Given the description of an element on the screen output the (x, y) to click on. 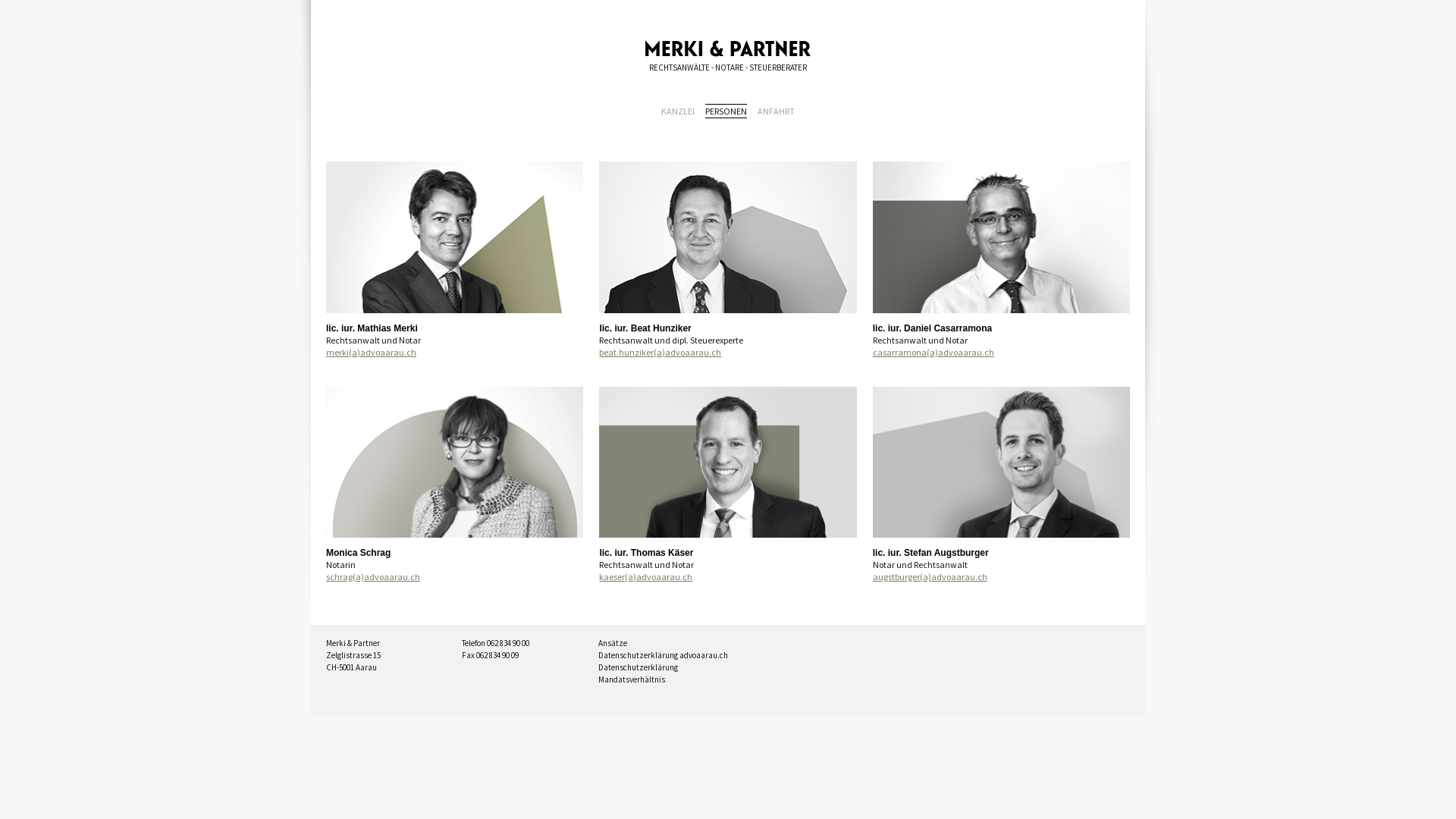
lic. iur. Beat Hunziker Element type: text (727, 328)
augstburger(a)advoaarau.ch Element type: text (1000, 577)
merki(a)advoaarau.ch Element type: text (454, 352)
lic. iur. Daniel Casarramona Element type: text (1000, 328)
062 834 90 00 Element type: text (507, 642)
MERKI&PARTNER Element type: text (727, 48)
KANZLEI Element type: text (677, 110)
lic. iur. Stefan Augstburger Element type: text (1000, 552)
beat.hunziker(a)advoaarau.ch Element type: text (727, 352)
PERSONEN Element type: text (725, 110)
casarramona(a)advoaarau.ch Element type: text (1000, 352)
kaeser(a)advoaarau.ch Element type: text (727, 577)
schrag(a)advoaarau.ch Element type: text (454, 577)
Monica Schrag Element type: text (454, 552)
ANFAHRT Element type: text (775, 110)
lic. iur. Mathias Merki Element type: text (454, 328)
